Given the description of an element on the screen output the (x, y) to click on. 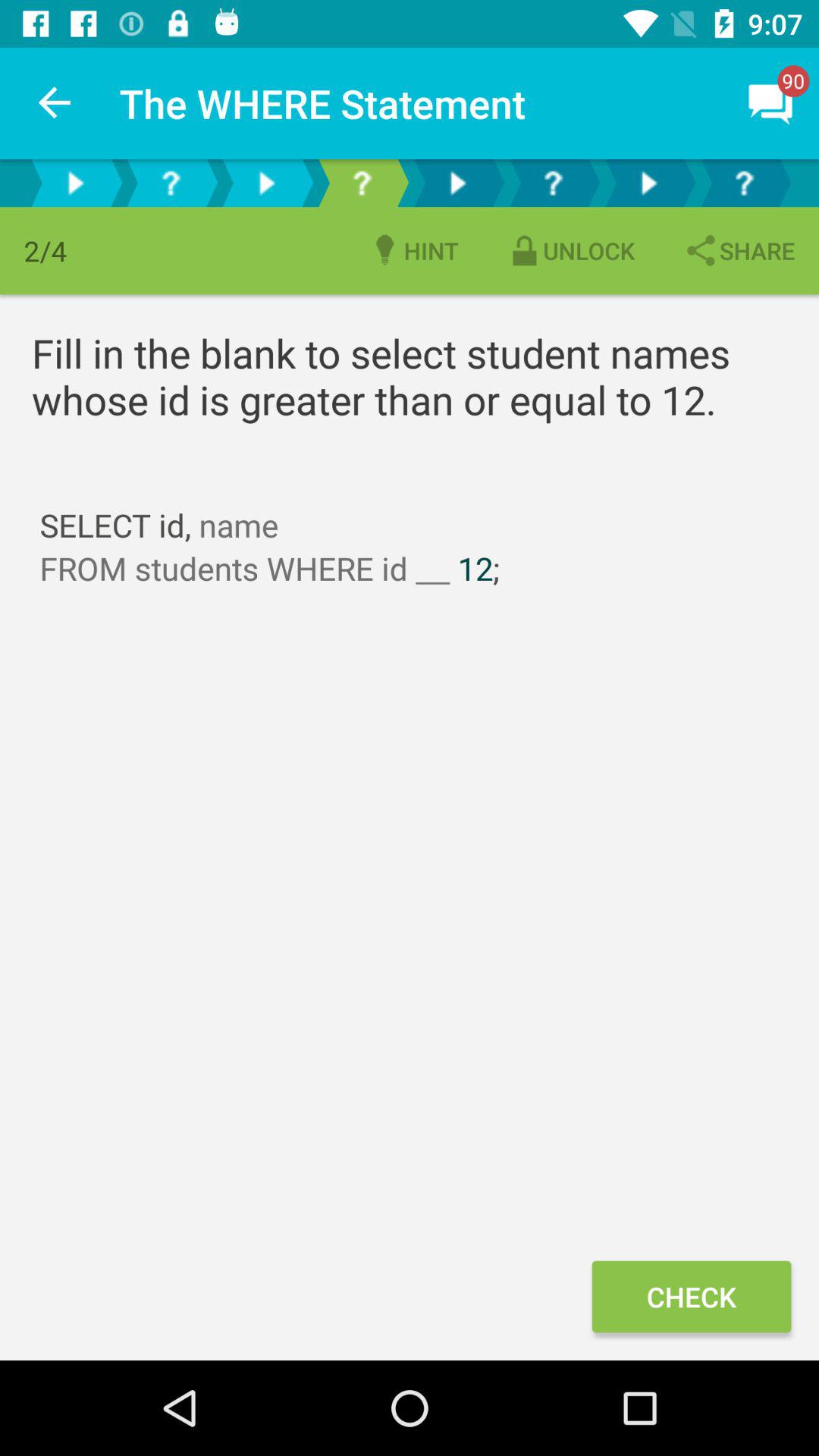
next button (265, 183)
